Given the description of an element on the screen output the (x, y) to click on. 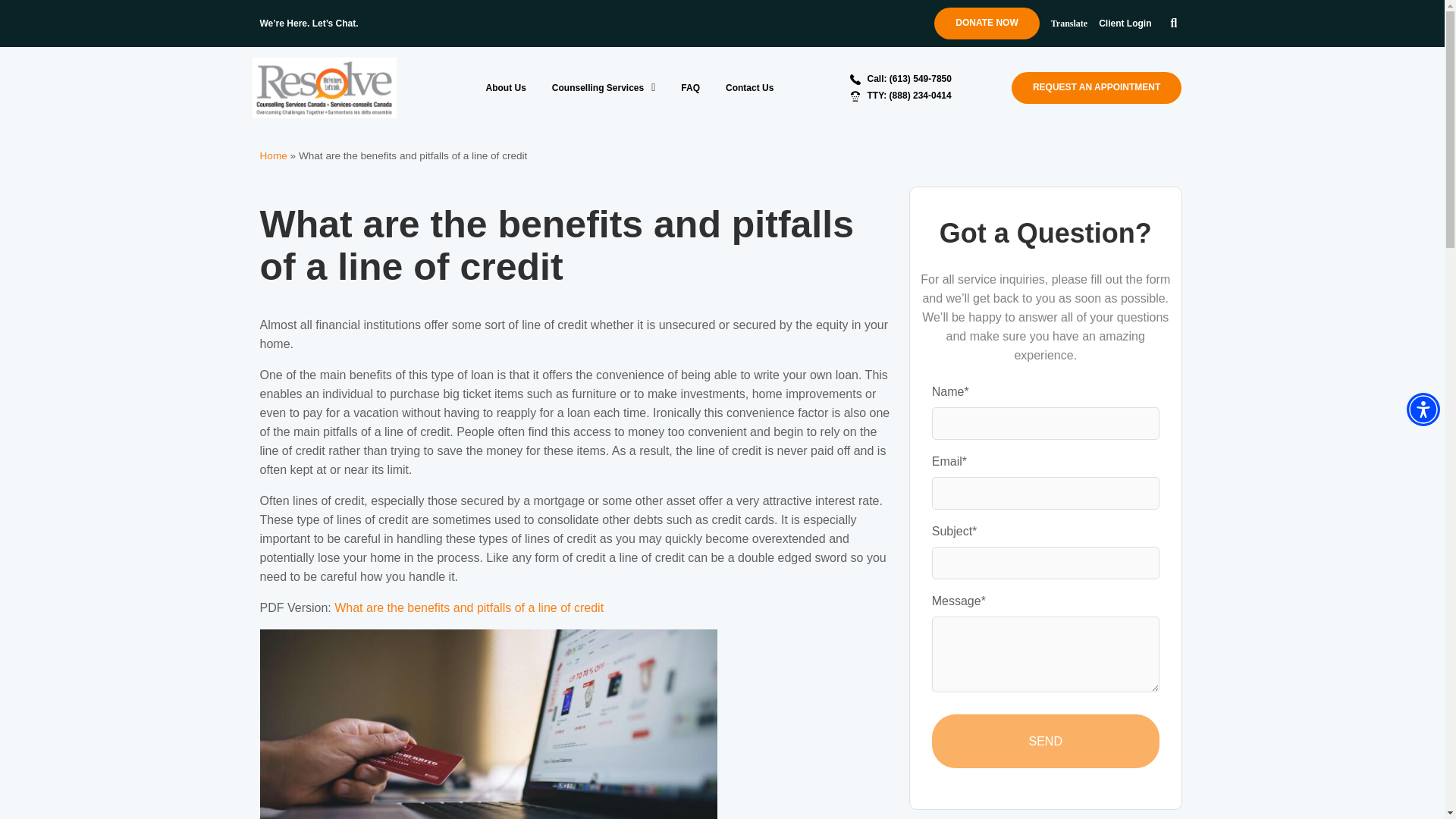
DONATE NOW (986, 23)
SEND (1044, 741)
Counselling Services (603, 87)
Accessibility Menu (1422, 409)
Translate (1069, 23)
Client Login (1124, 23)
About Us (504, 87)
